Given the description of an element on the screen output the (x, y) to click on. 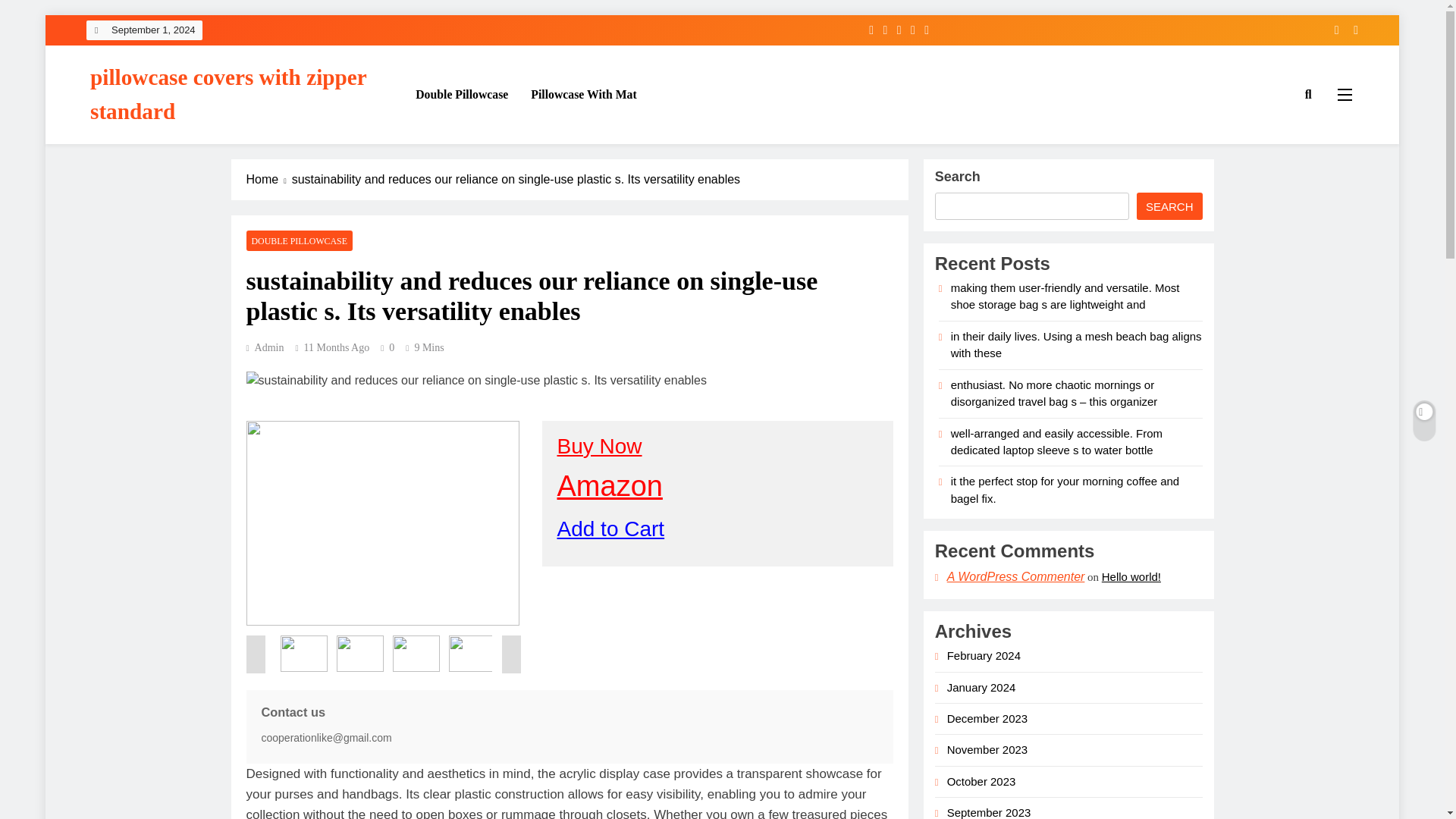
Admin (264, 347)
Amazon (609, 486)
Pillowcase With Mat (583, 94)
Hello world! (1131, 576)
it the perfect stop for your morning coffee and bagel fix. (1064, 489)
SEARCH (1169, 206)
Double Pillowcase (461, 94)
pillowcase covers with zipper standard (228, 94)
Add to Cart (609, 528)
